Given the description of an element on the screen output the (x, y) to click on. 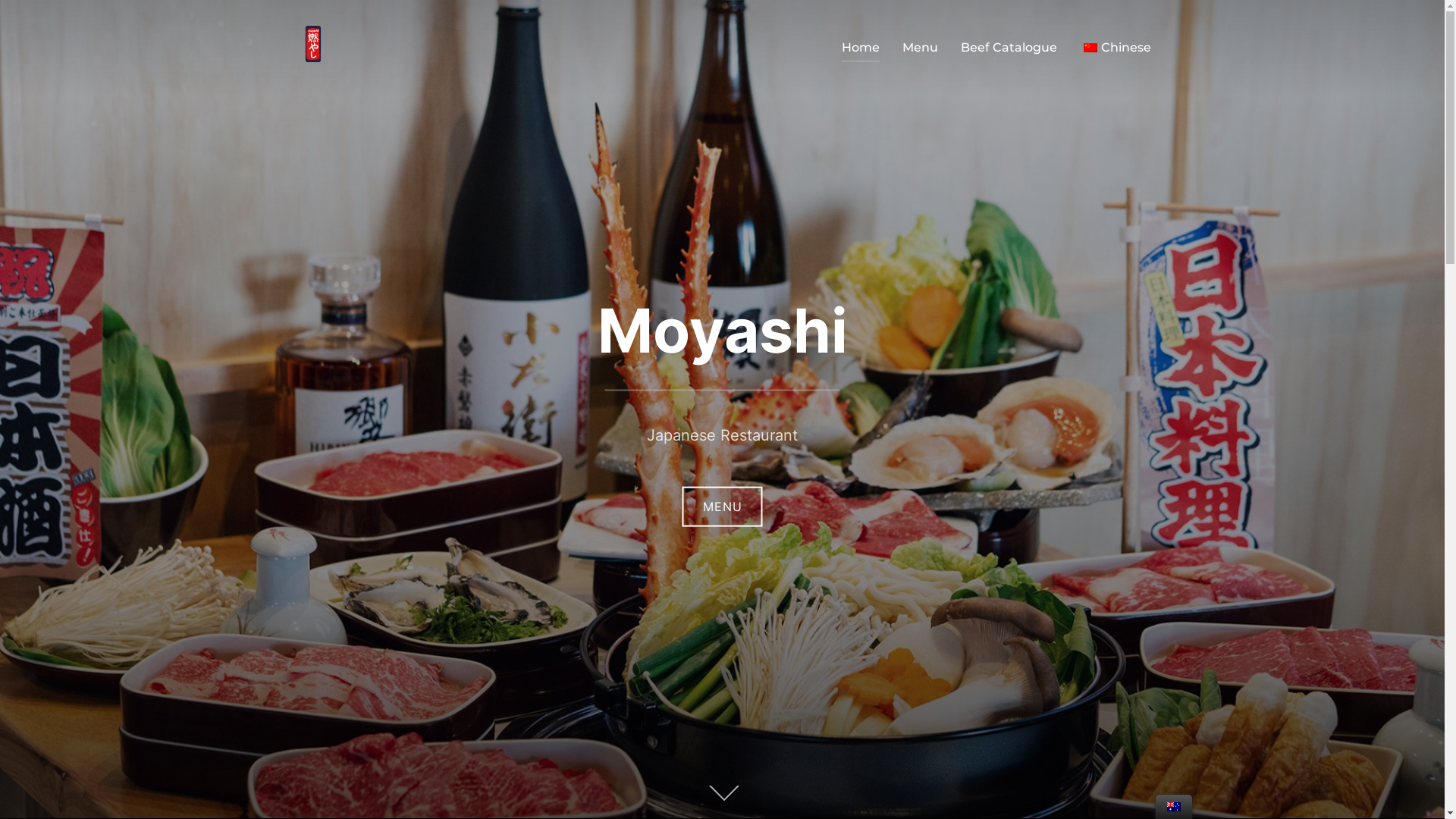
Moyashi Element type: text (722, 330)
English Element type: hover (1173, 806)
Menu Element type: text (920, 47)
Beef Catalogue Element type: text (1008, 47)
Chinese Element type: hover (1089, 46)
MENU Element type: text (722, 506)
Chinese Element type: text (1115, 47)
Scroll down to content Element type: hover (721, 794)
Home Element type: text (860, 47)
